Given the description of an element on the screen output the (x, y) to click on. 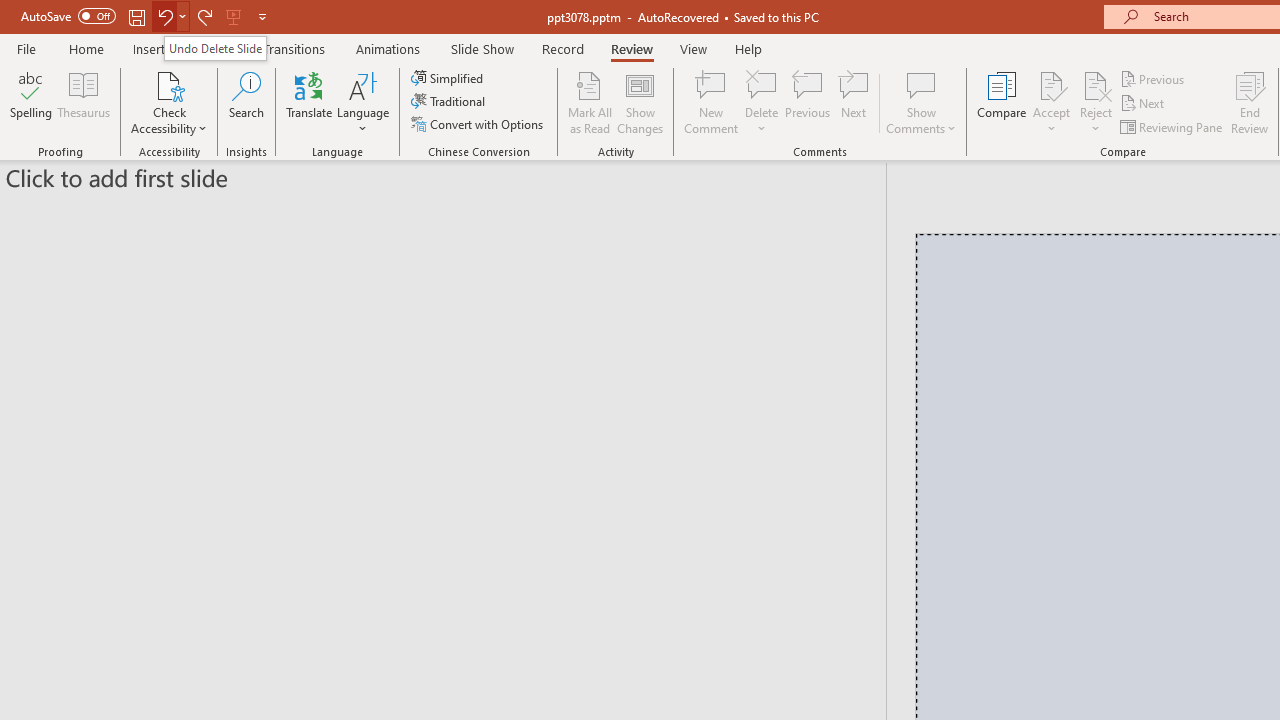
Undo Delete Slide (215, 48)
Convert with Options... (479, 124)
Compare (1002, 102)
